Given the description of an element on the screen output the (x, y) to click on. 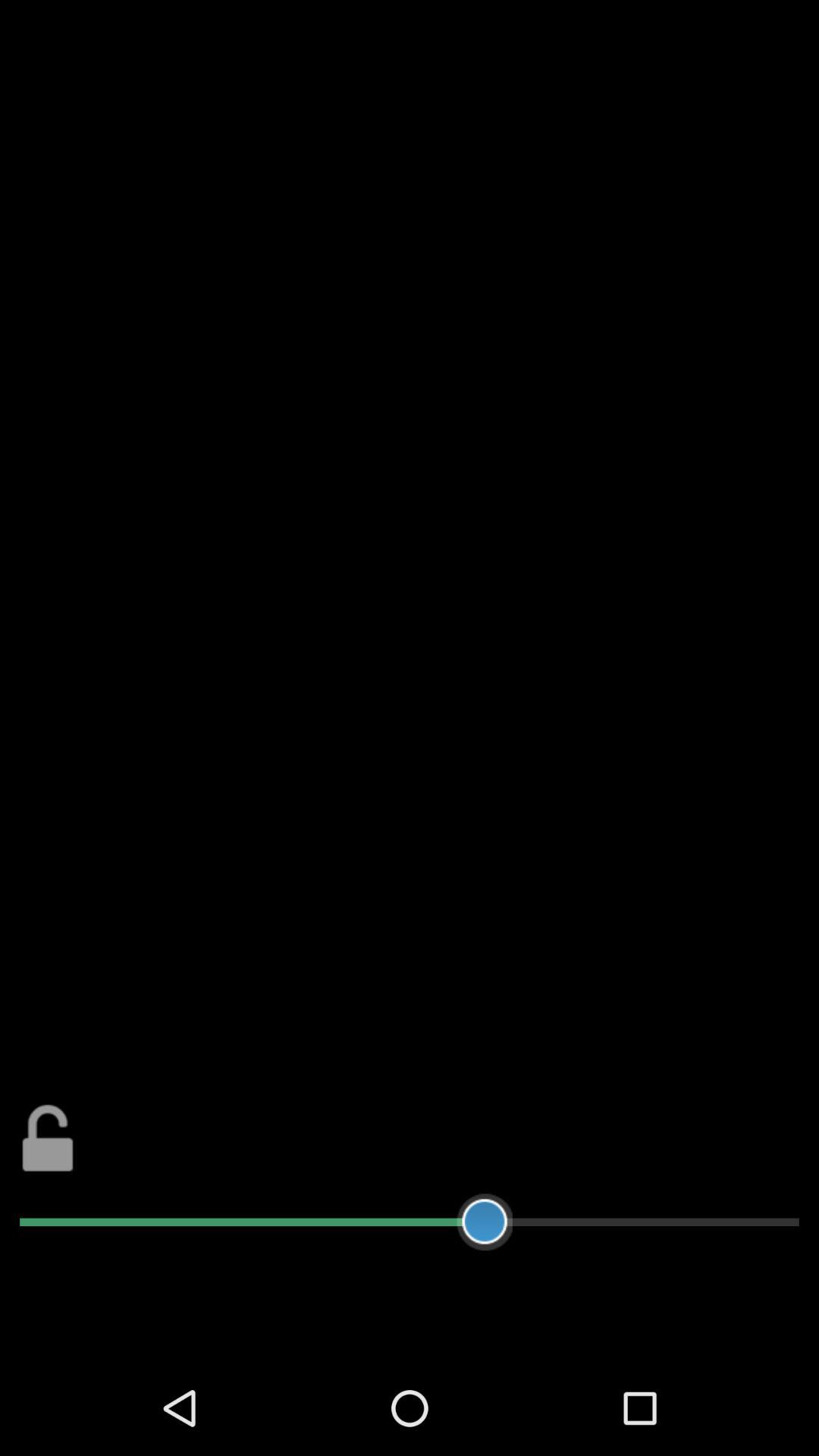
lock/unlock screen (47, 1137)
